Given the description of an element on the screen output the (x, y) to click on. 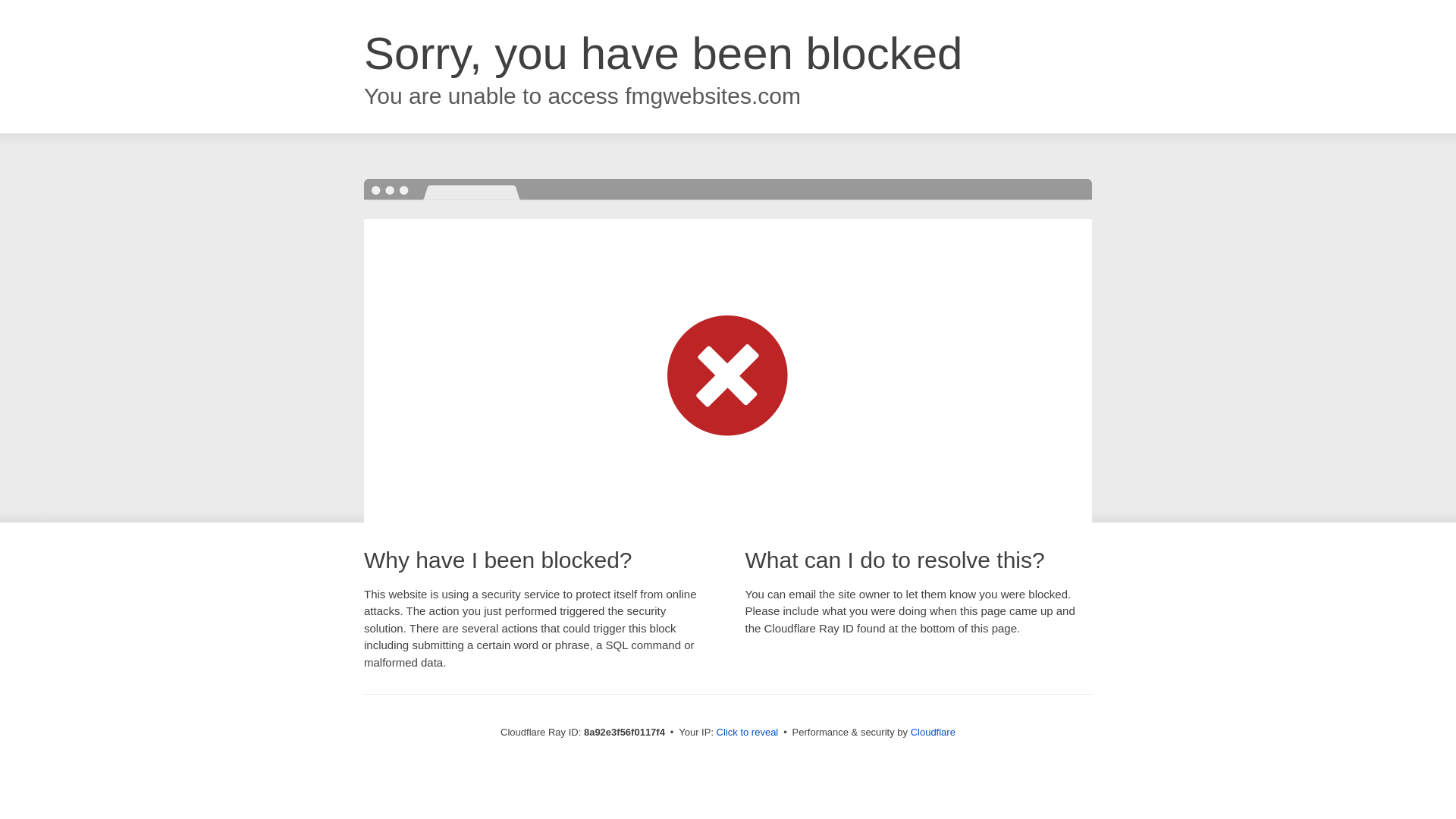
Click to reveal (747, 732)
Cloudflare (933, 731)
